Given the description of an element on the screen output the (x, y) to click on. 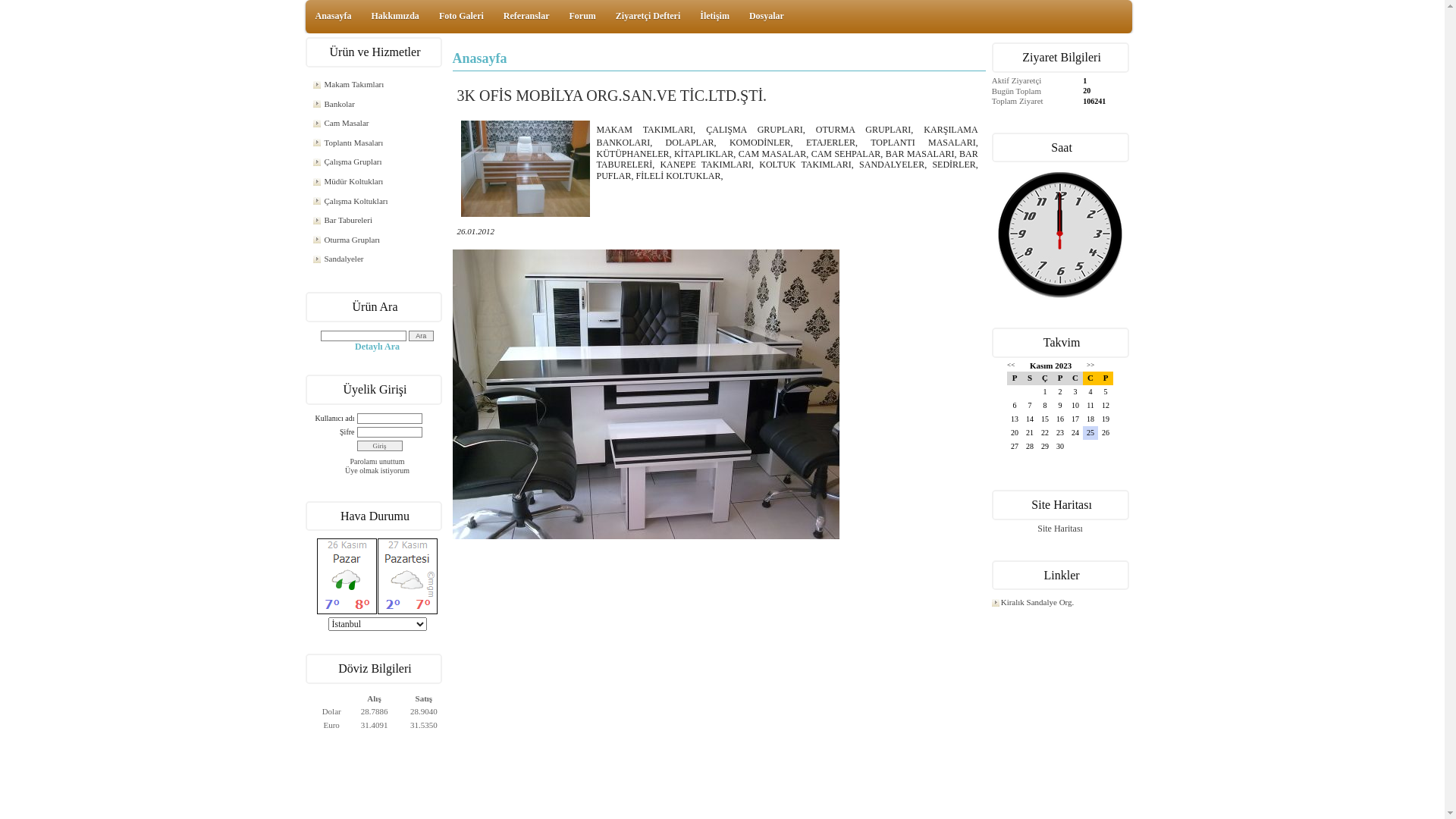
7 Element type: text (1029, 405)
2 Element type: text (1059, 391)
17 Element type: text (1074, 419)
9 Element type: text (1059, 405)
Dosyalar Element type: text (766, 15)
6 Element type: text (1014, 405)
4 Element type: text (1090, 391)
20 Element type: text (1014, 432)
30 Element type: text (1059, 446)
29 Element type: text (1044, 446)
12 Element type: text (1105, 405)
21 Element type: text (1029, 432)
14 Element type: text (1029, 419)
1 Element type: text (1044, 391)
19 Element type: text (1105, 419)
10 Element type: text (1074, 405)
22 Element type: text (1044, 432)
 Ara  Element type: text (420, 335)
24 Element type: text (1074, 432)
18 Element type: text (1090, 419)
15 Element type: text (1044, 419)
Referanslar Element type: text (526, 15)
25 Element type: text (1090, 432)
>> Element type: text (1090, 364)
16 Element type: text (1059, 419)
Anasayfa Element type: text (333, 15)
13 Element type: text (1014, 419)
26 Element type: text (1105, 432)
27 Element type: text (1014, 446)
11 Element type: text (1090, 405)
Cam Masalar Element type: text (376, 123)
Bar Tabureleri Element type: text (376, 220)
Forum Element type: text (582, 15)
28 Element type: text (1029, 446)
3 Element type: text (1074, 391)
8 Element type: text (1044, 405)
<< Element type: text (1010, 364)
Foto Galeri Element type: text (461, 15)
Sandalyeler Element type: text (376, 259)
5 Element type: text (1105, 391)
Bankolar Element type: text (376, 104)
23 Element type: text (1059, 432)
